Given the description of an element on the screen output the (x, y) to click on. 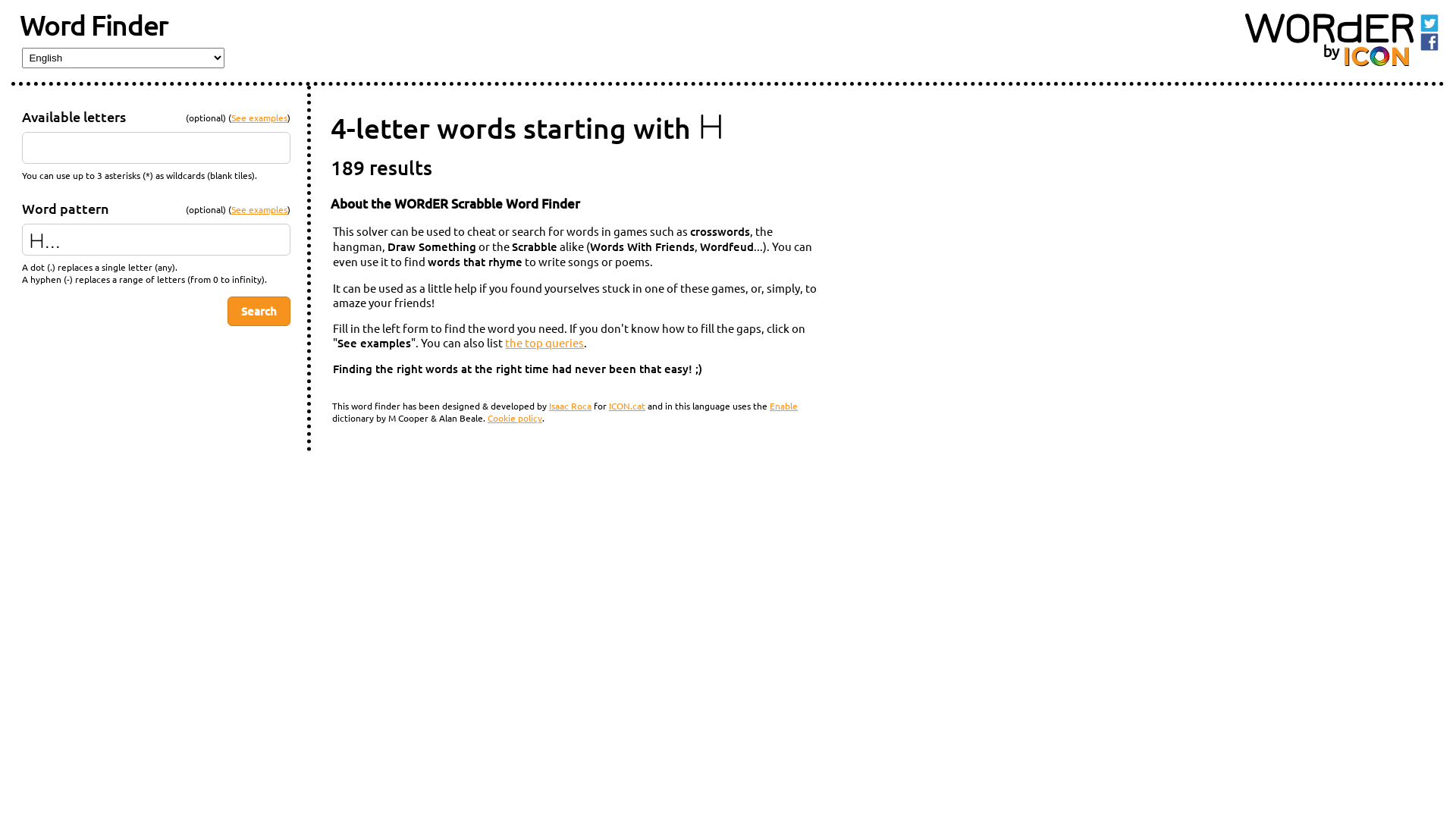
See examples Element type: text (259, 117)
Isaac Roca Element type: text (570, 405)
Search Element type: text (258, 311)
ICON.cat Element type: text (626, 405)
Cookie policy Element type: text (514, 417)
Enable Element type: text (783, 405)
See examples Element type: text (259, 209)
the top queries Element type: text (544, 342)
